Given the description of an element on the screen output the (x, y) to click on. 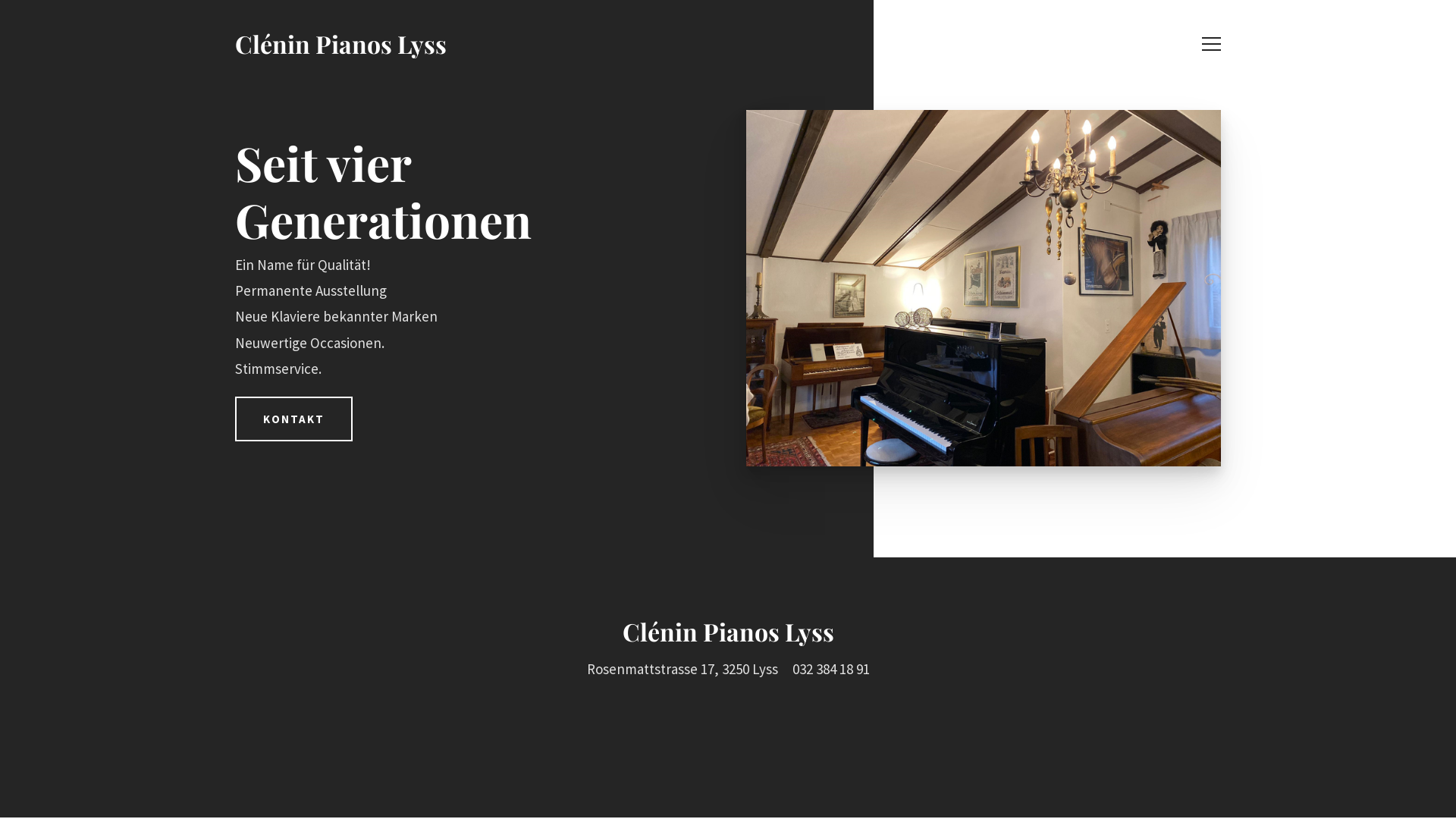
KONTAKT Element type: text (293, 418)
